Given the description of an element on the screen output the (x, y) to click on. 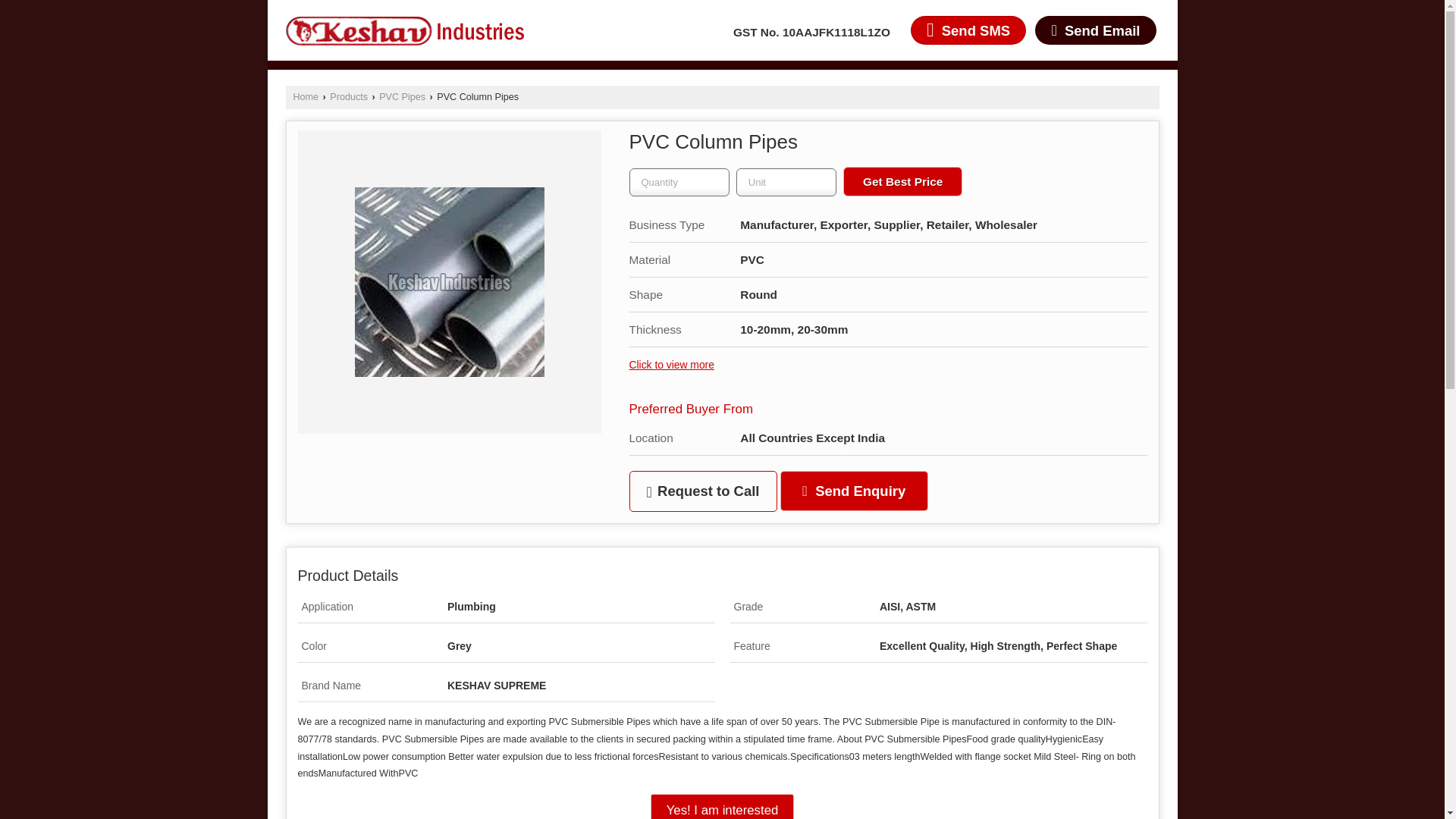
Keshav Industries (403, 30)
Home (305, 96)
Products (349, 96)
Yes! I am interested (722, 806)
Request to Call (702, 490)
Keshav Industries (403, 30)
PVC Column Pipes (449, 281)
Home (305, 96)
Products (349, 96)
Click to view more (671, 364)
PVC Pipes (401, 96)
